Given the description of an element on the screen output the (x, y) to click on. 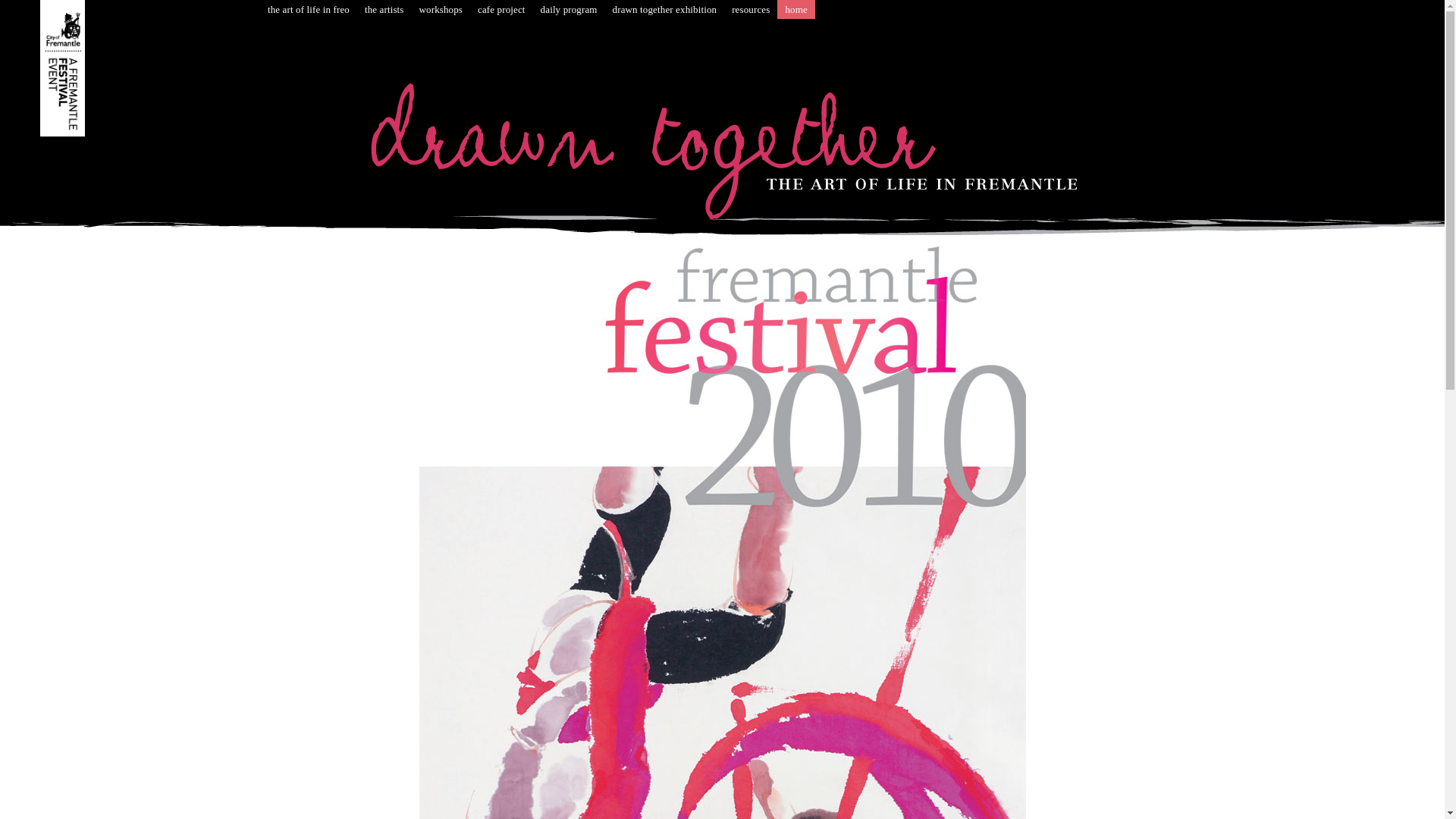
drawn together exhibition Element type: text (664, 9)
the art of life in freo Element type: text (308, 9)
daily program Element type: text (569, 9)
the artists Element type: text (384, 9)
resources Element type: text (750, 9)
home Element type: text (795, 9)
cafe project Element type: text (501, 9)
workshops Element type: text (440, 9)
